Given the description of an element on the screen output the (x, y) to click on. 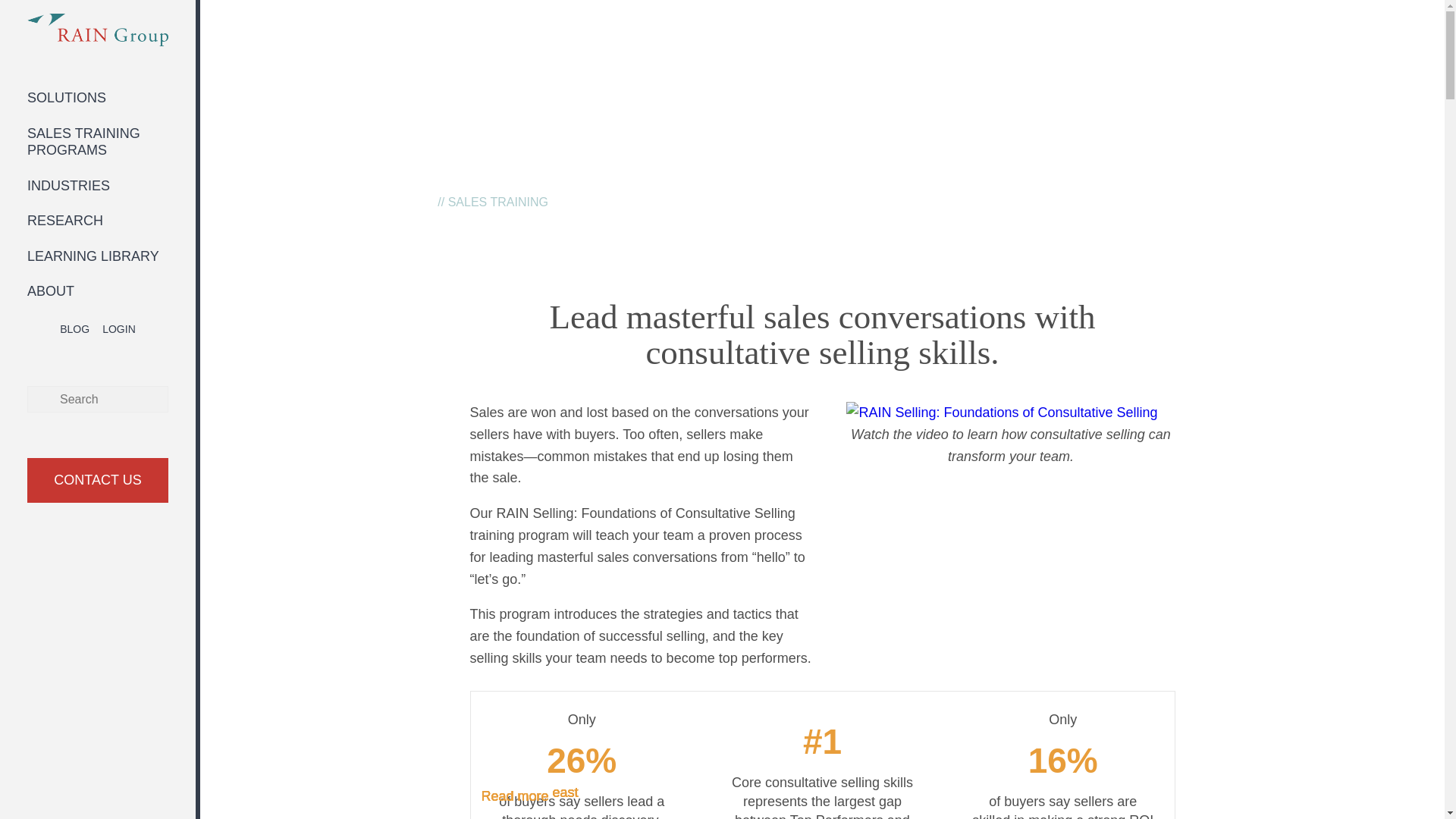
SALES TRAINING PROGRAMS (83, 142)
SOLUTIONS (66, 97)
RAINGroup logo (97, 29)
